Given the description of an element on the screen output the (x, y) to click on. 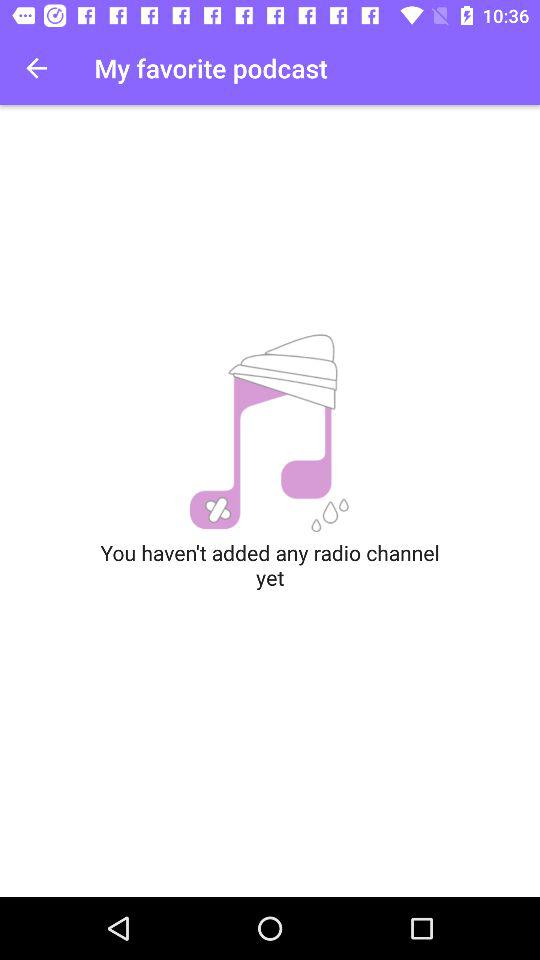
press the icon at the top left corner (36, 68)
